Given the description of an element on the screen output the (x, y) to click on. 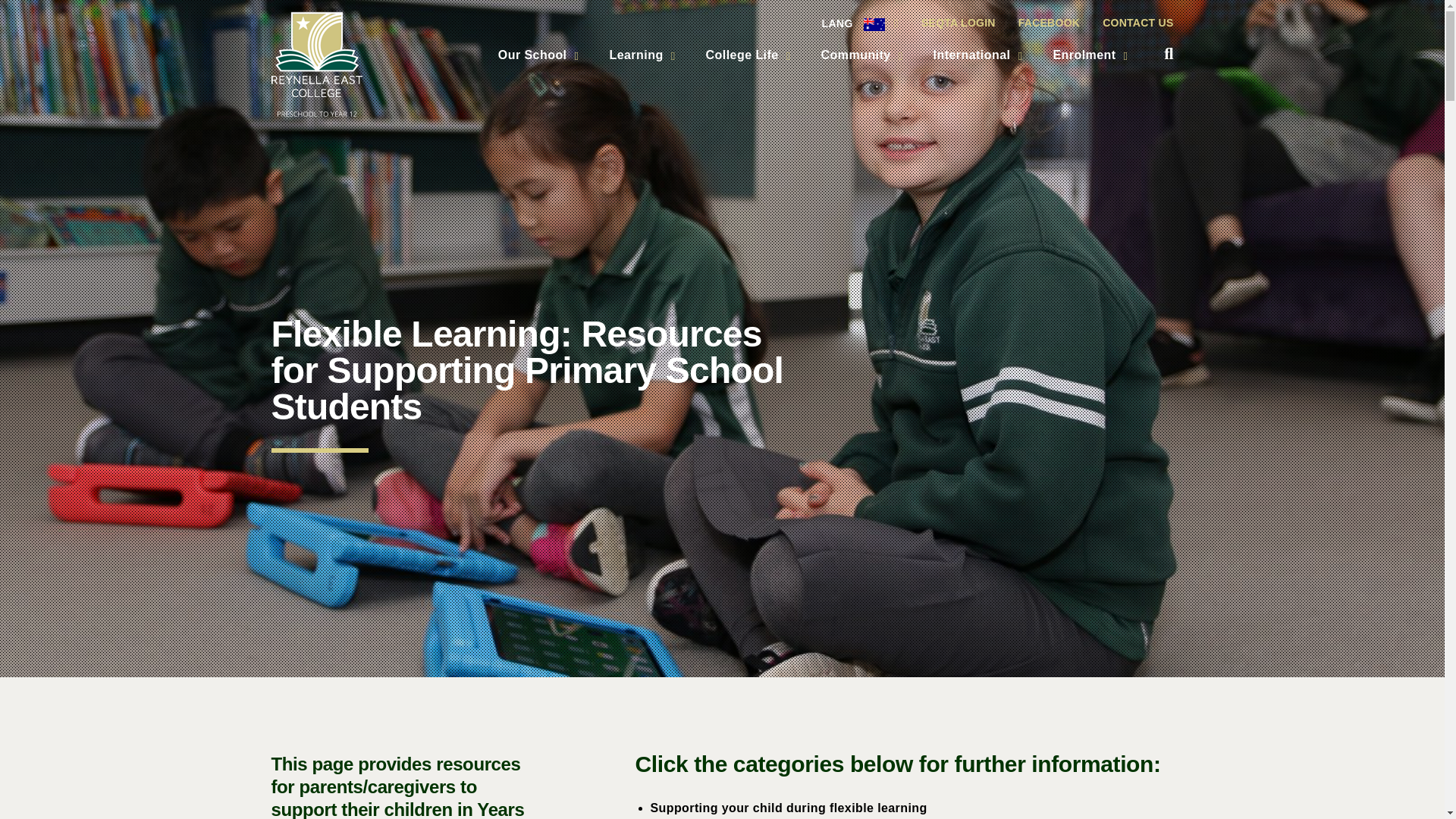
CONTACT US (1131, 23)
Learning (642, 55)
FACEBOOK (1048, 23)
SEQTA LOGIN (958, 23)
Our School (538, 55)
College Life (748, 55)
